Given the description of an element on the screen output the (x, y) to click on. 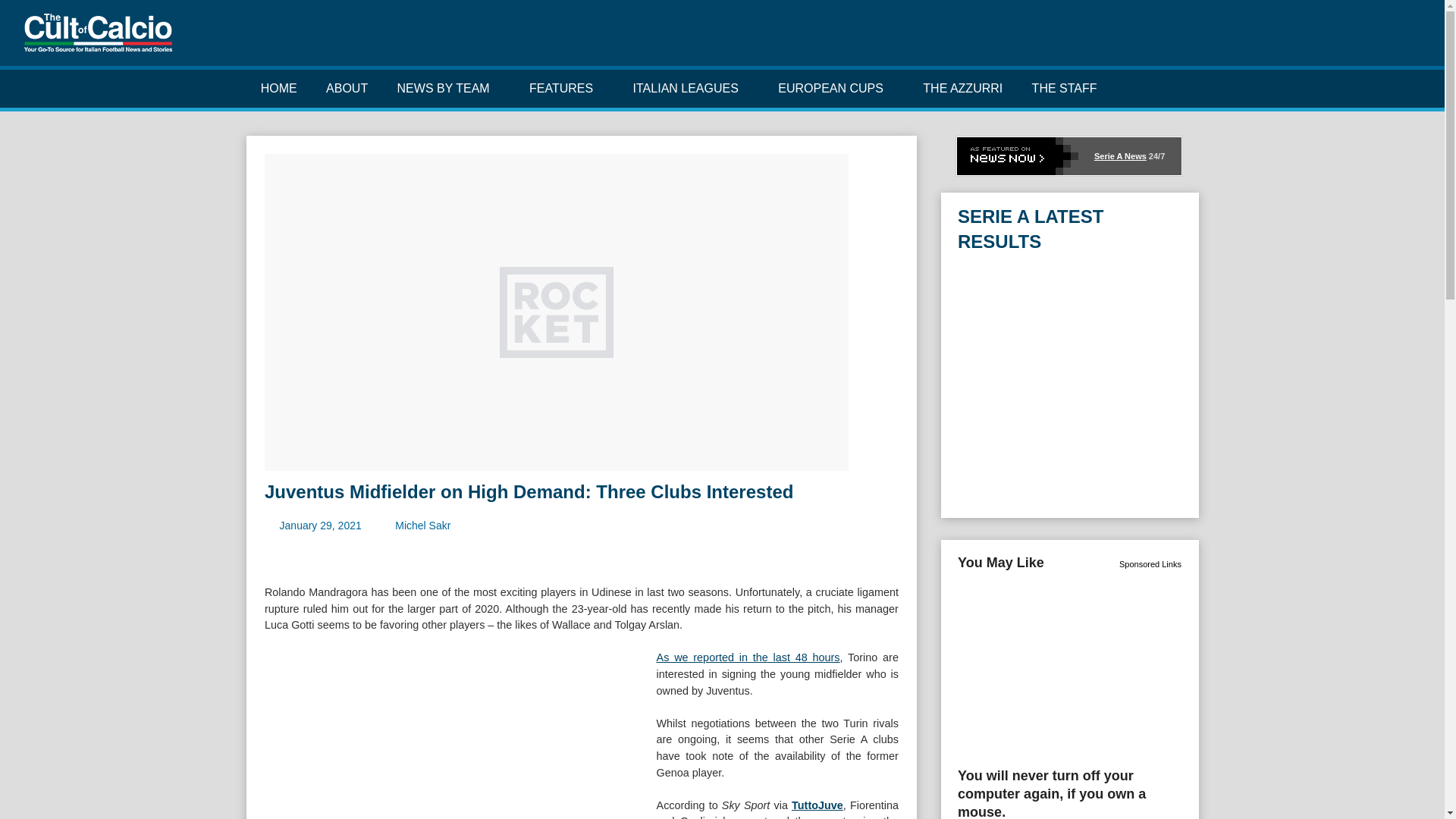
ABOUT (346, 88)
YouTube (1386, 39)
HOME (278, 88)
Twitter (1339, 39)
NEWS BY TEAM (447, 88)
7:00 pm (320, 525)
ITALIAN LEAGUES (689, 88)
Instagram (1363, 39)
Facebook (1315, 39)
